Given the description of an element on the screen output the (x, y) to click on. 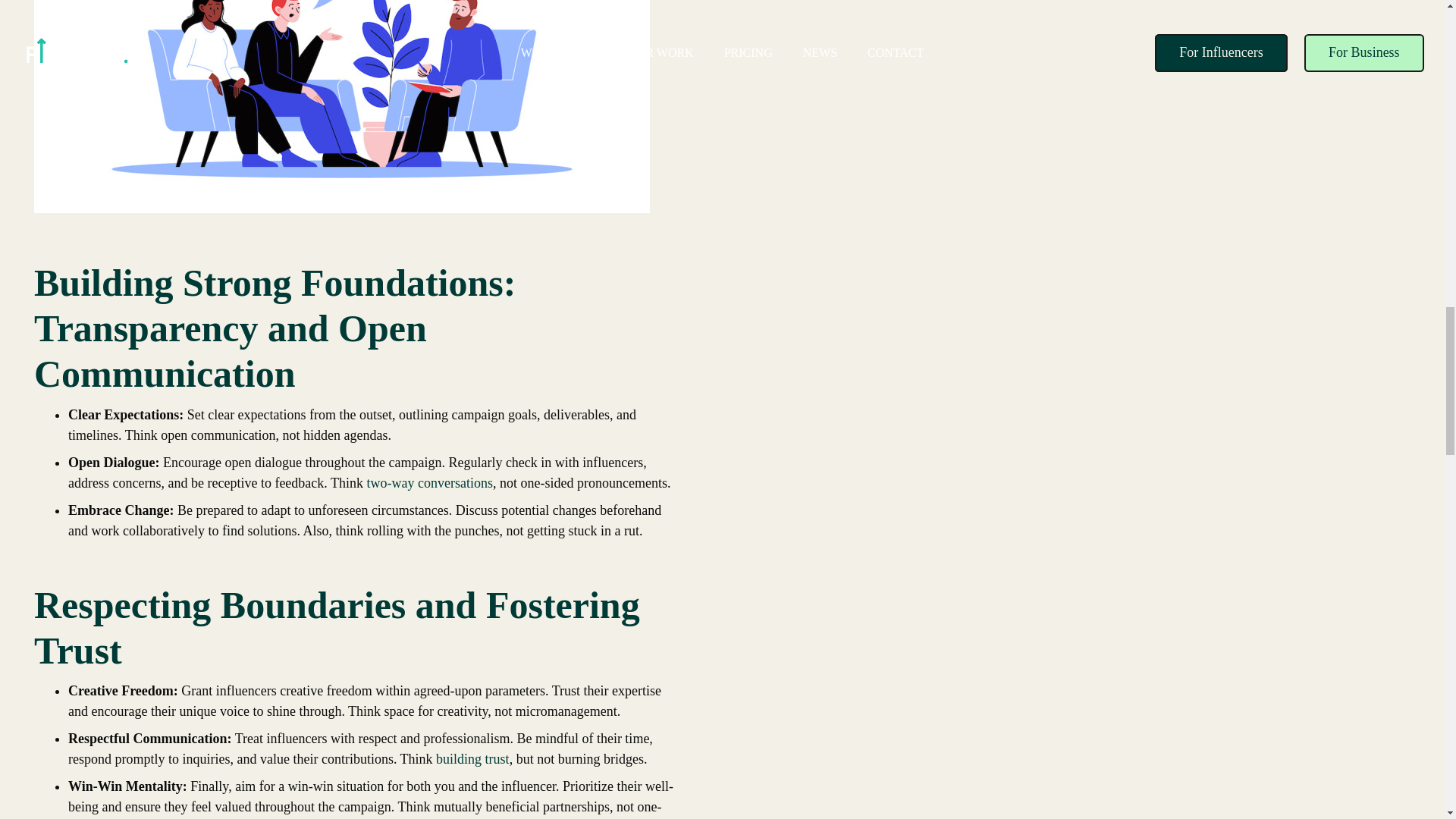
building trust (472, 758)
two-way conversations (429, 482)
